Given the description of an element on the screen output the (x, y) to click on. 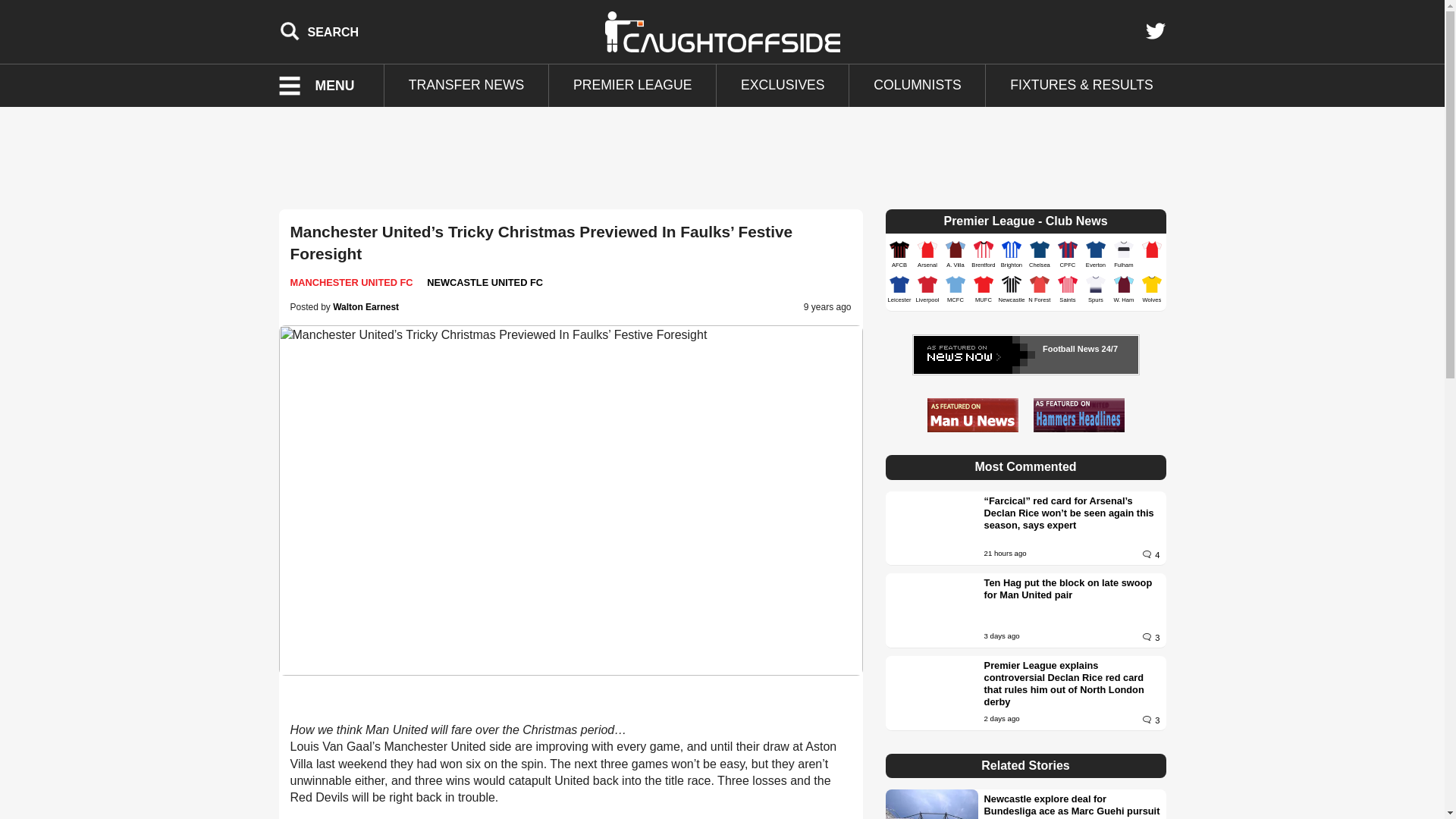
Menu (325, 85)
TRANSFER NEWS (466, 85)
Search (319, 30)
PREMIER LEAGUE (632, 85)
Twitter (1155, 30)
EXCLUSIVES (782, 85)
